Given the description of an element on the screen output the (x, y) to click on. 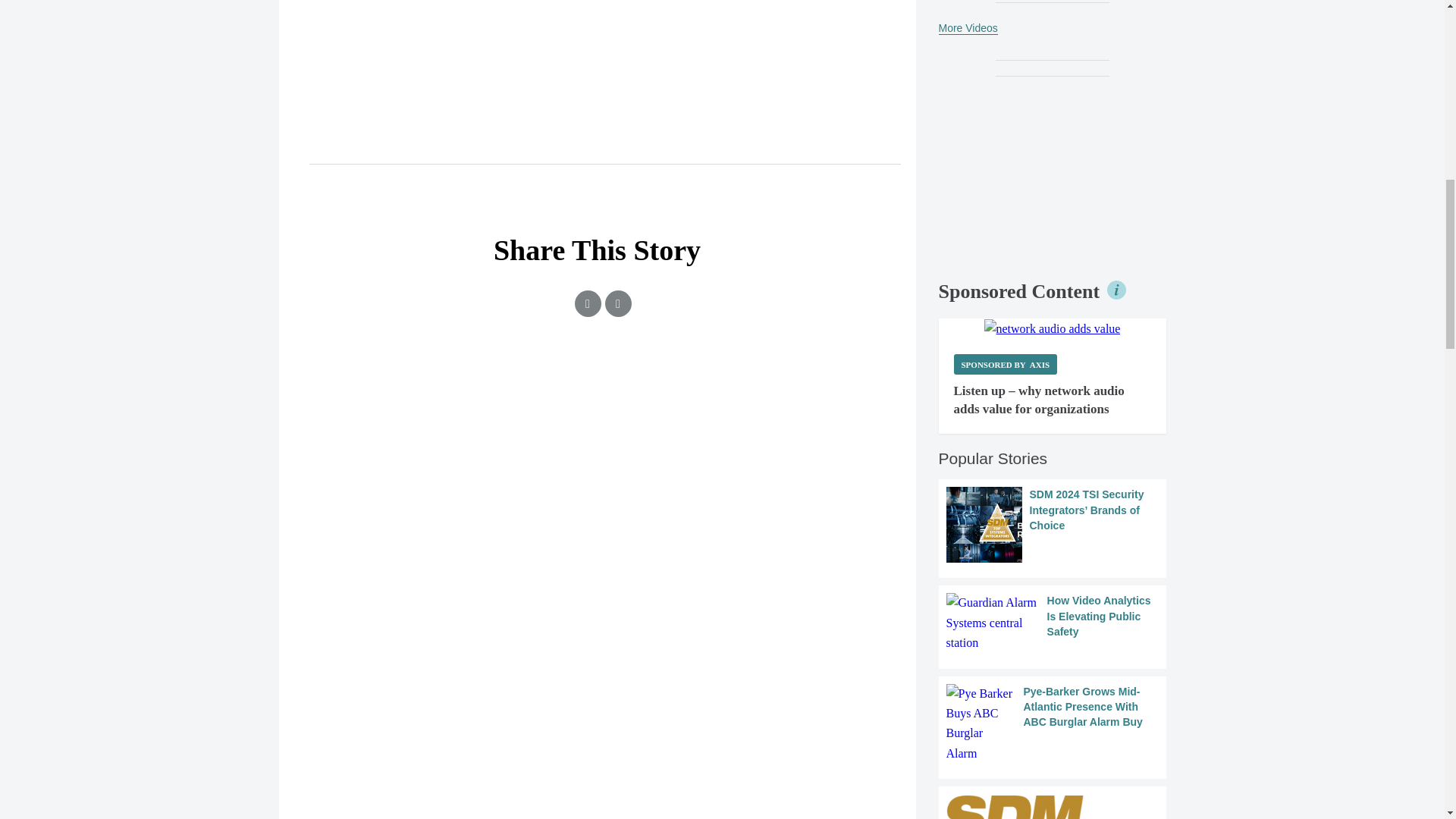
Interaction questions (597, 422)
Sponsored by Axis  (1005, 363)
Axis Communications (1052, 329)
How Video Analytics Is Elevating Public Safety (1052, 622)
